Given the description of an element on the screen output the (x, y) to click on. 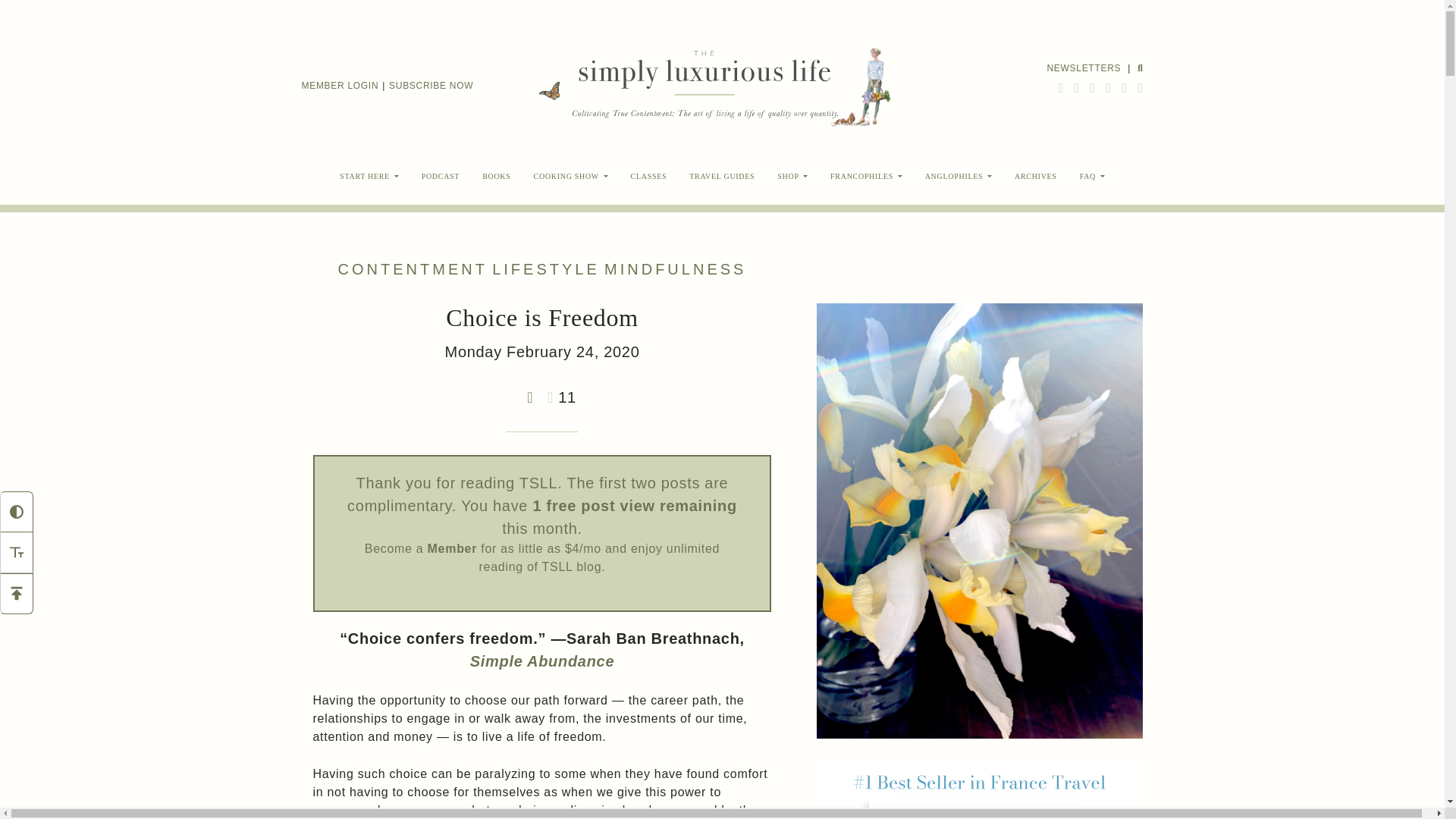
SHOP (791, 176)
Back to The Simply Luxurious Life Home Page (702, 85)
CLASSES (649, 176)
NEWSLETTERS (1083, 67)
START HERE (369, 176)
MEMBER LOGIN (339, 85)
PODCAST (440, 176)
TRAVEL GUIDES (721, 176)
SUBSCRIBE NOW (430, 85)
COOKING SHOW (571, 176)
BOOKS (495, 176)
